Given the description of an element on the screen output the (x, y) to click on. 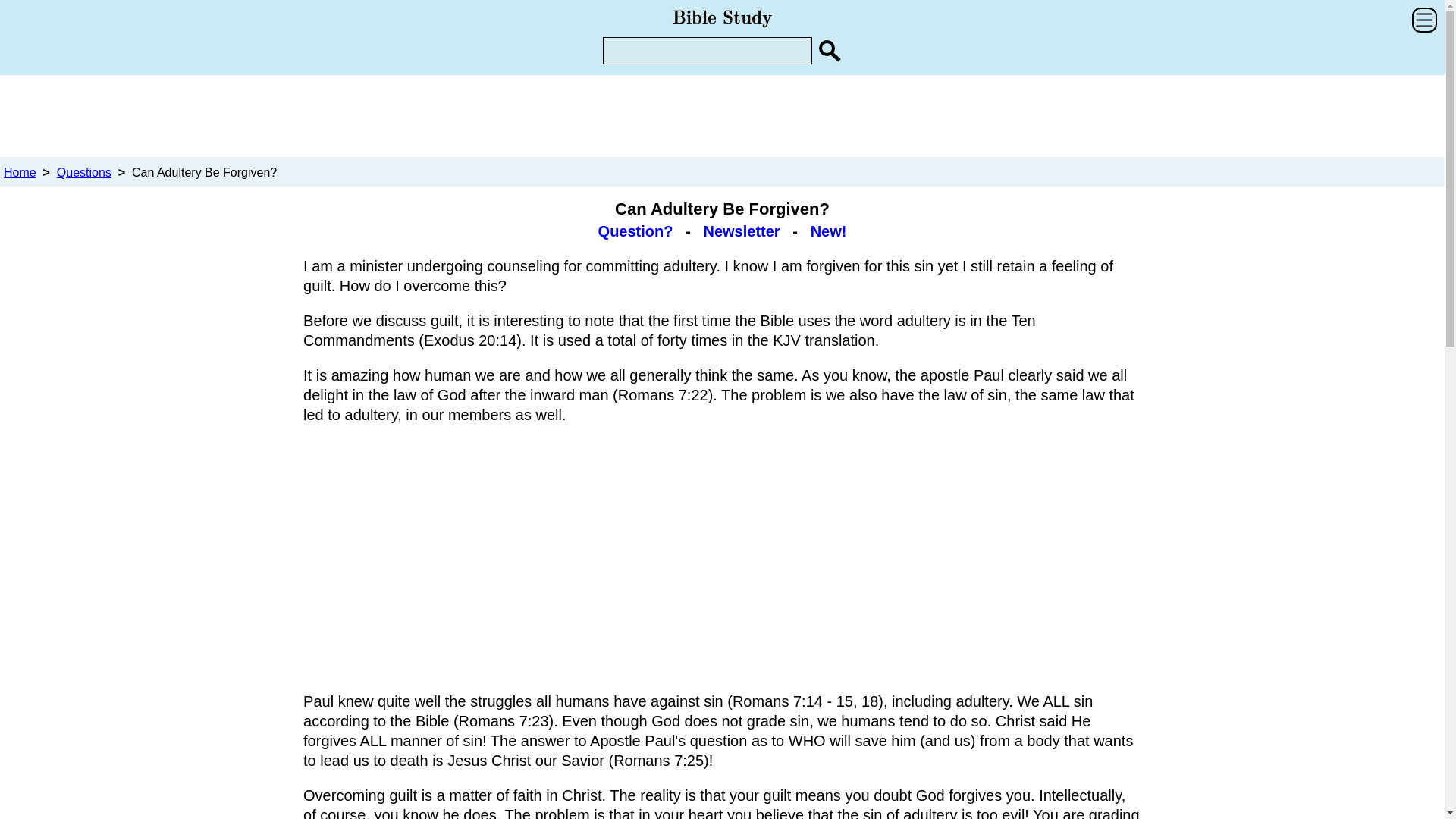
Questions (84, 172)
Advertisement (721, 558)
New! (828, 230)
Home (20, 172)
Advertisement (721, 115)
Newsletter (740, 230)
Question? (635, 230)
